Given the description of an element on the screen output the (x, y) to click on. 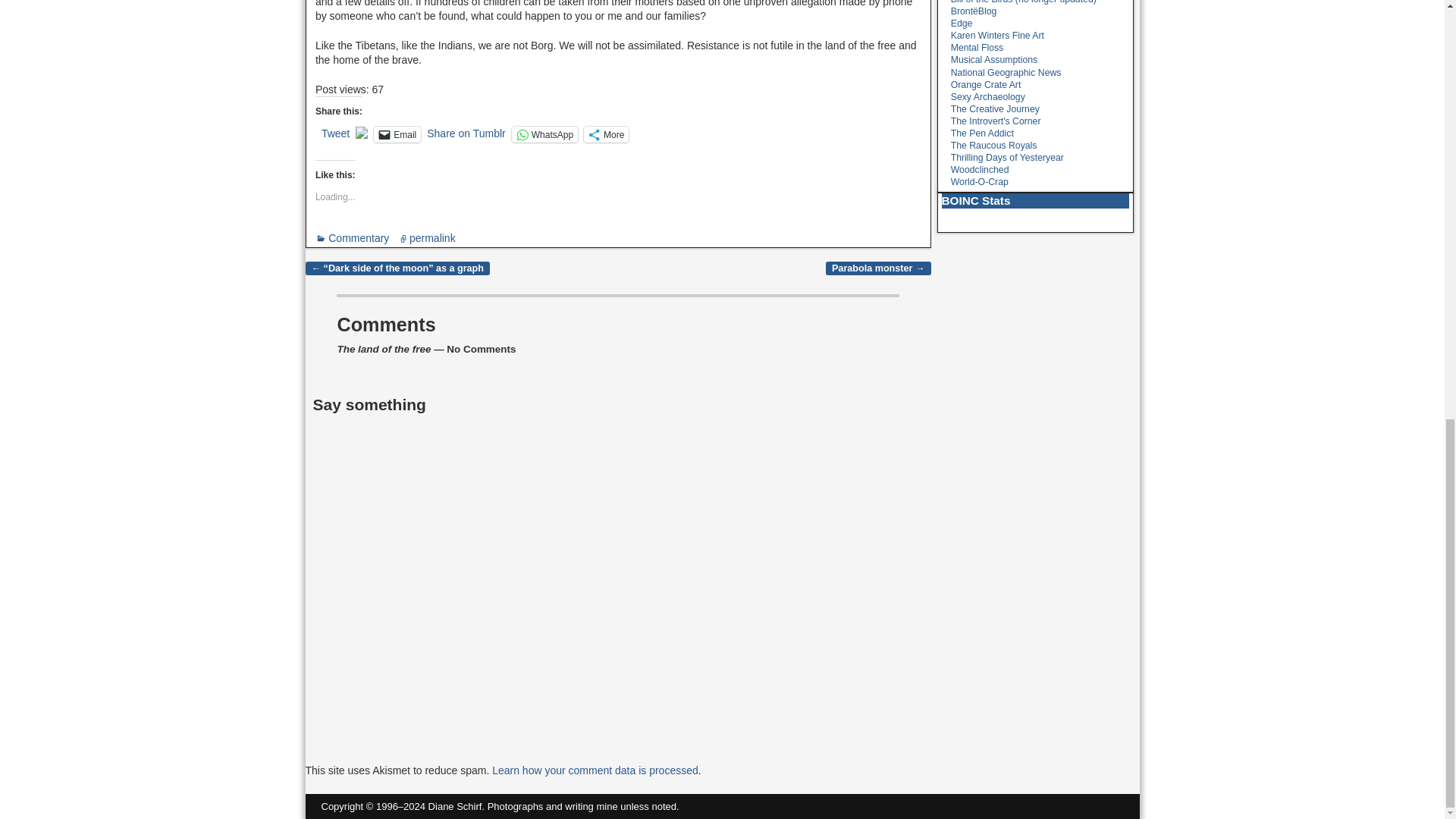
More (605, 134)
Learn how your comment data is processed (595, 770)
Click to share on WhatsApp (545, 134)
Email (397, 134)
permalink (432, 237)
WhatsApp (545, 134)
Sadly, Bill has died. (1023, 2)
Permalink to The land of the free (432, 237)
Tweet (335, 133)
